Given the description of an element on the screen output the (x, y) to click on. 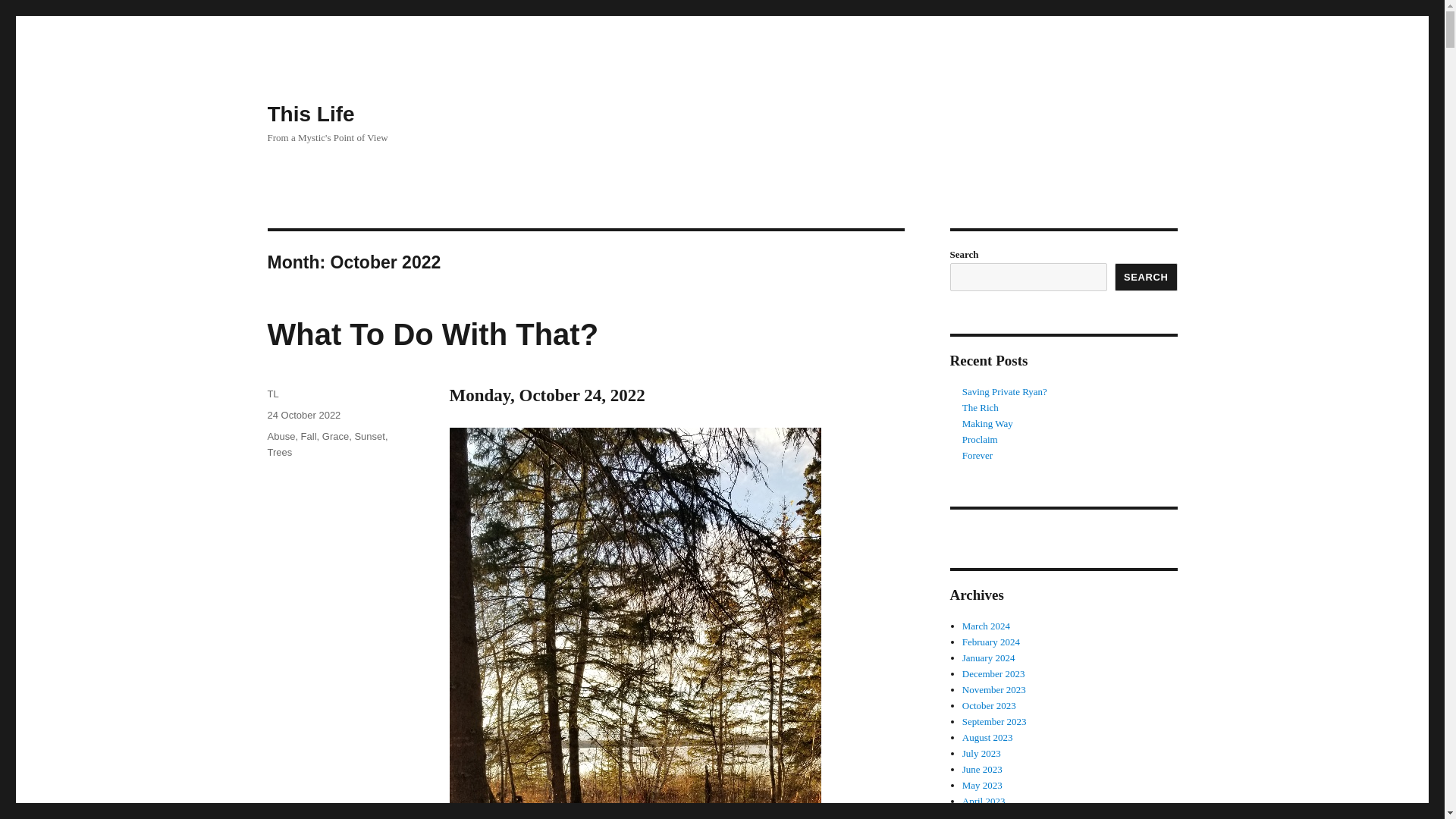
Sunset (368, 436)
Grace (335, 436)
This Life (309, 114)
Abuse (280, 436)
TL (272, 393)
What To Do With That? (432, 334)
Fall (309, 436)
Trees (279, 451)
24 October 2022 (303, 414)
